Given the description of an element on the screen output the (x, y) to click on. 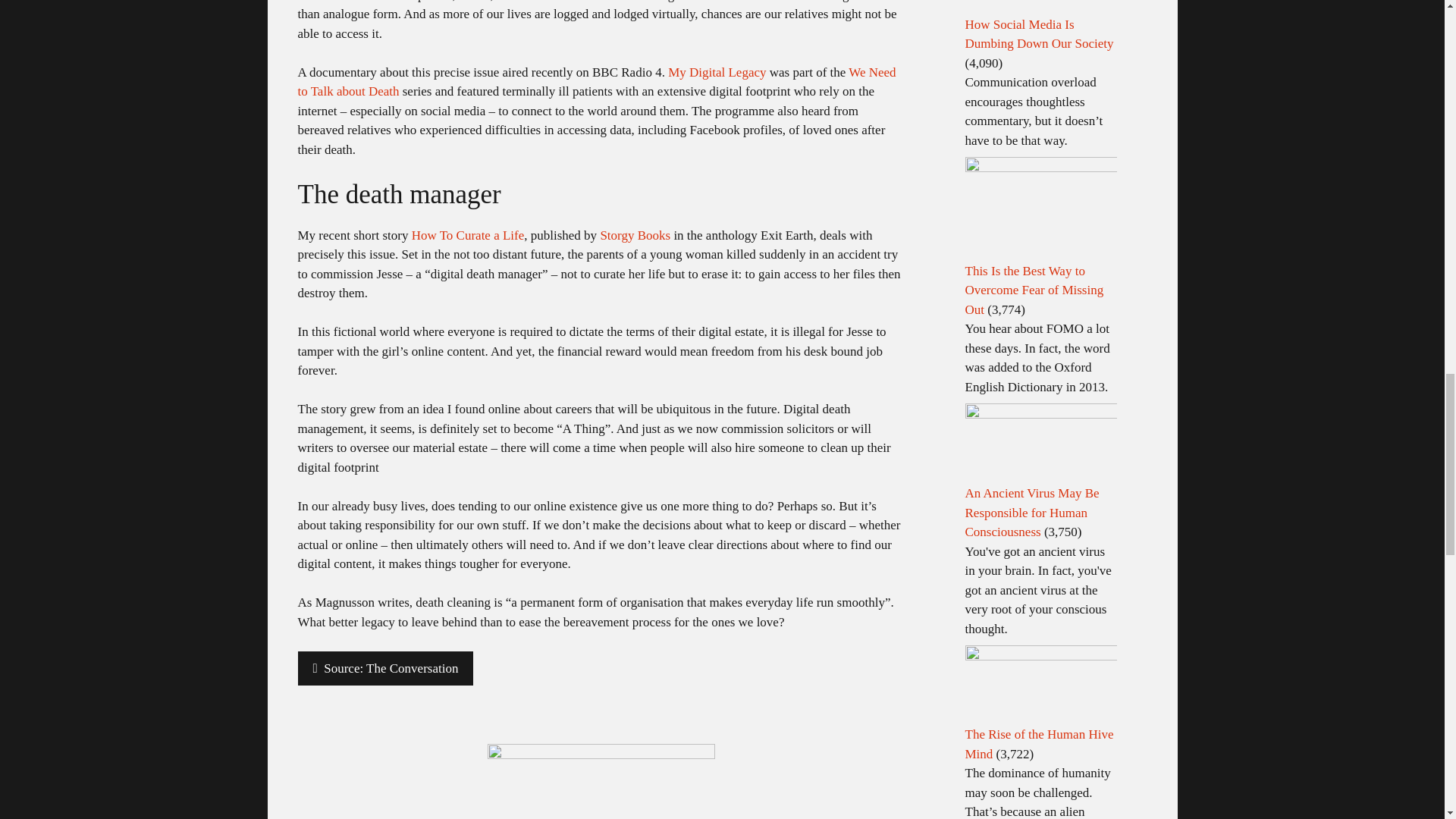
How Social Media Is Dumbing Down Our Society (1038, 34)
An Ancient Virus May Be Responsible for Human Consciousness (1031, 512)
My Digital Legacy (716, 72)
  Source: The Conversation (385, 668)
Storgy Books (634, 235)
We Need to Talk about Death (596, 82)
How To Curate a Life (468, 235)
The Rise of the Human Hive Mind (1038, 744)
This Is the Best Way to Overcome Fear of Missing Out (1033, 289)
